Given the description of an element on the screen output the (x, y) to click on. 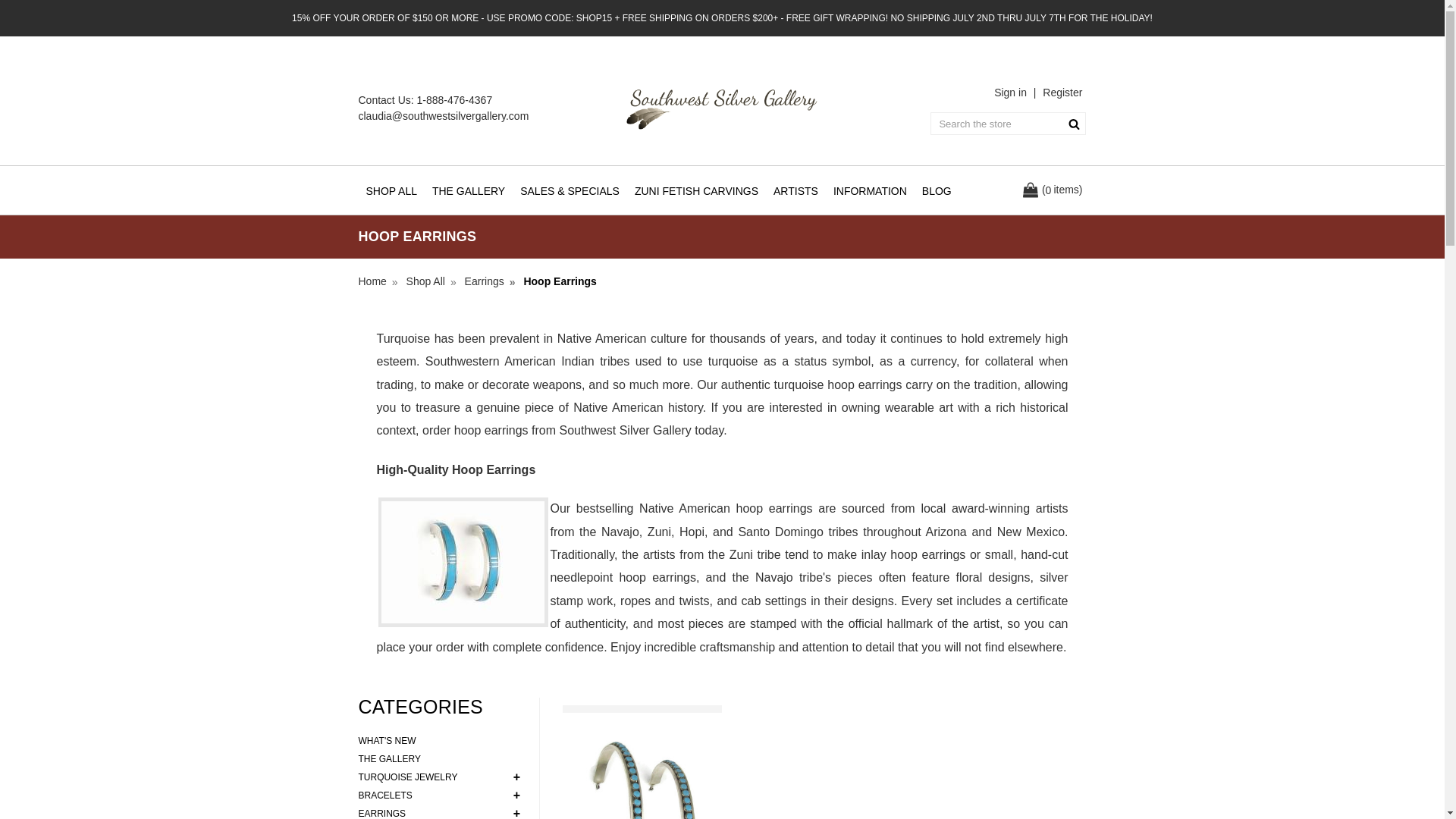
Bracelets (441, 795)
Sign in (1010, 92)
hoop-earrings-1.jpg (462, 562)
Submit (1074, 123)
Register (1062, 92)
Submit (1074, 123)
What's New (441, 741)
SHOP ALL (390, 191)
1-888-476-4367 (454, 100)
Turquoise Jewelry  (441, 777)
